Given the description of an element on the screen output the (x, y) to click on. 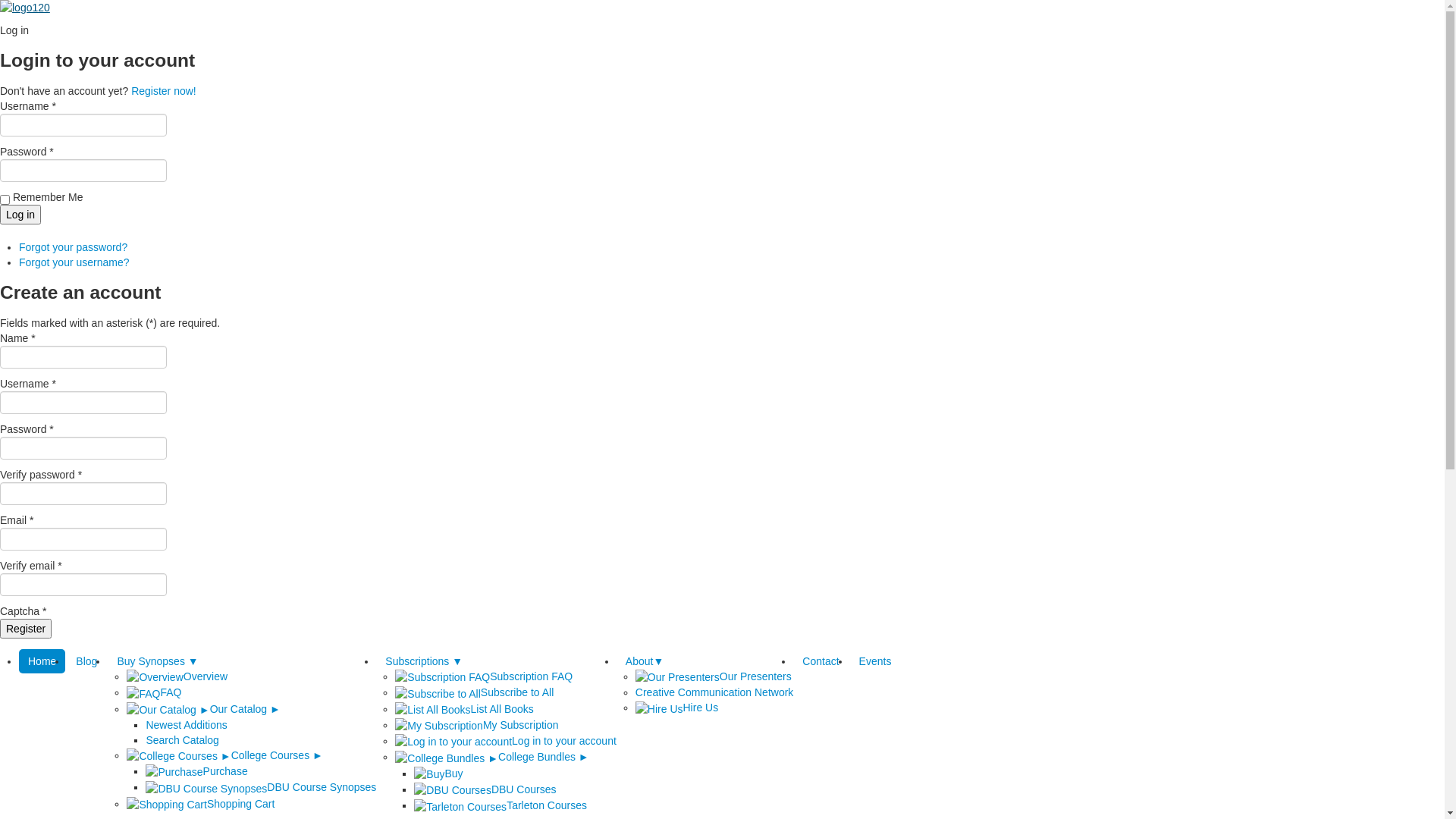
Purchase Element type: text (196, 771)
Forgot your username? Element type: text (73, 262)
Subscription FAQ Element type: text (483, 676)
Hire Us Element type: text (676, 707)
DBU Course Synopses Element type: text (260, 787)
DBU Courses Element type: text (484, 789)
Log in to your account Element type: text (505, 740)
List All Books Element type: text (464, 708)
Subscribe to All Element type: text (474, 692)
Overview Element type: text (176, 676)
Newest Additions Element type: text (185, 724)
Tarleton Courses Element type: text (500, 805)
FAQ Element type: text (153, 692)
Search Catalog Element type: text (182, 740)
Events Element type: text (875, 661)
Register now! Element type: text (163, 90)
Shopping Cart Element type: text (200, 803)
Contact Element type: text (820, 661)
Creative Communication Network Element type: text (714, 692)
Buy Element type: text (438, 773)
Home Element type: text (41, 661)
Forgot your password? Element type: text (72, 247)
Register Element type: text (25, 628)
My Subscription Element type: text (476, 724)
Our Presenters Element type: text (713, 676)
Log in Element type: text (20, 214)
Blog Element type: text (86, 661)
